Given the description of an element on the screen output the (x, y) to click on. 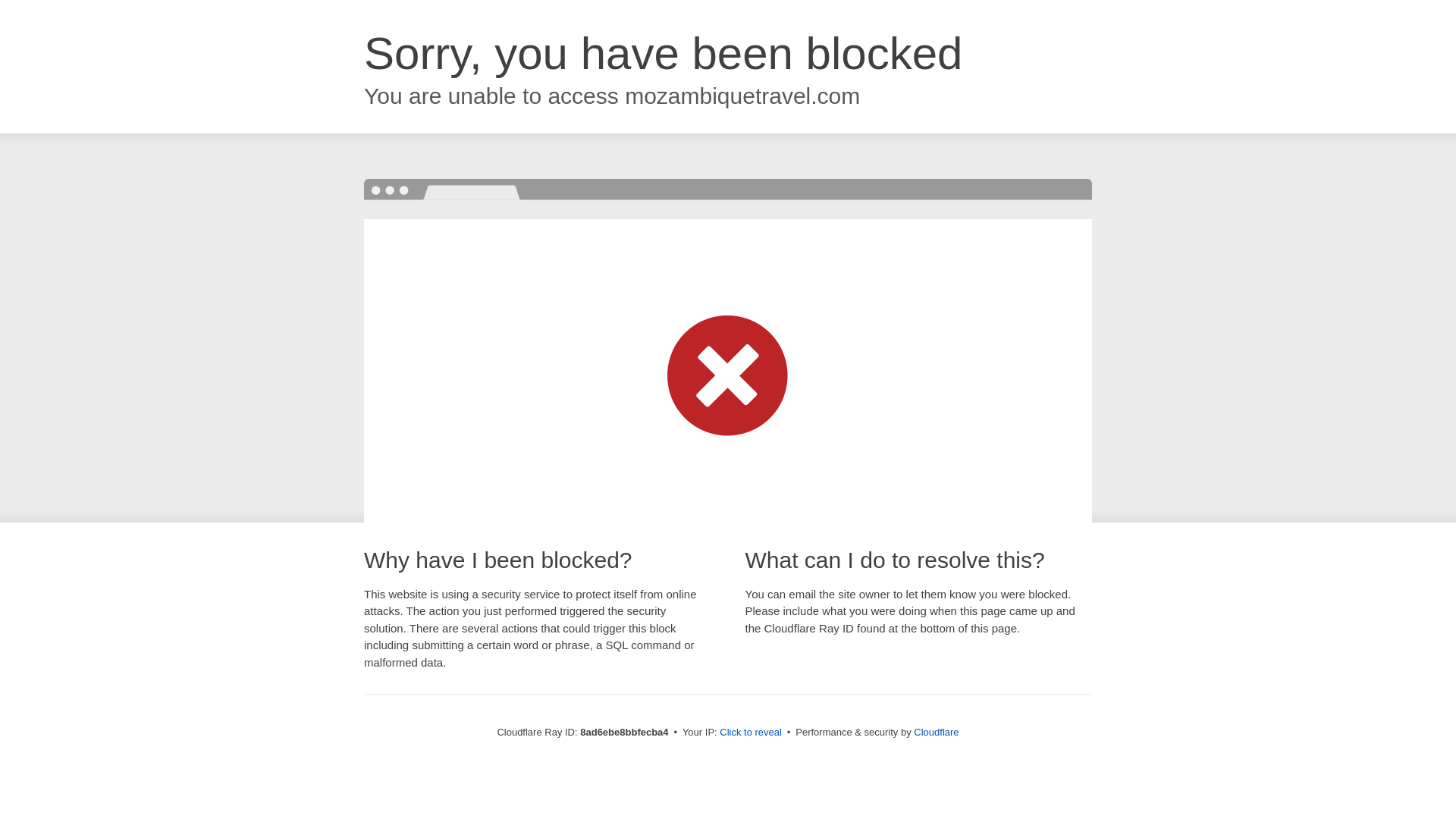
Cloudflare (936, 731)
Click to reveal (750, 732)
